Given the description of an element on the screen output the (x, y) to click on. 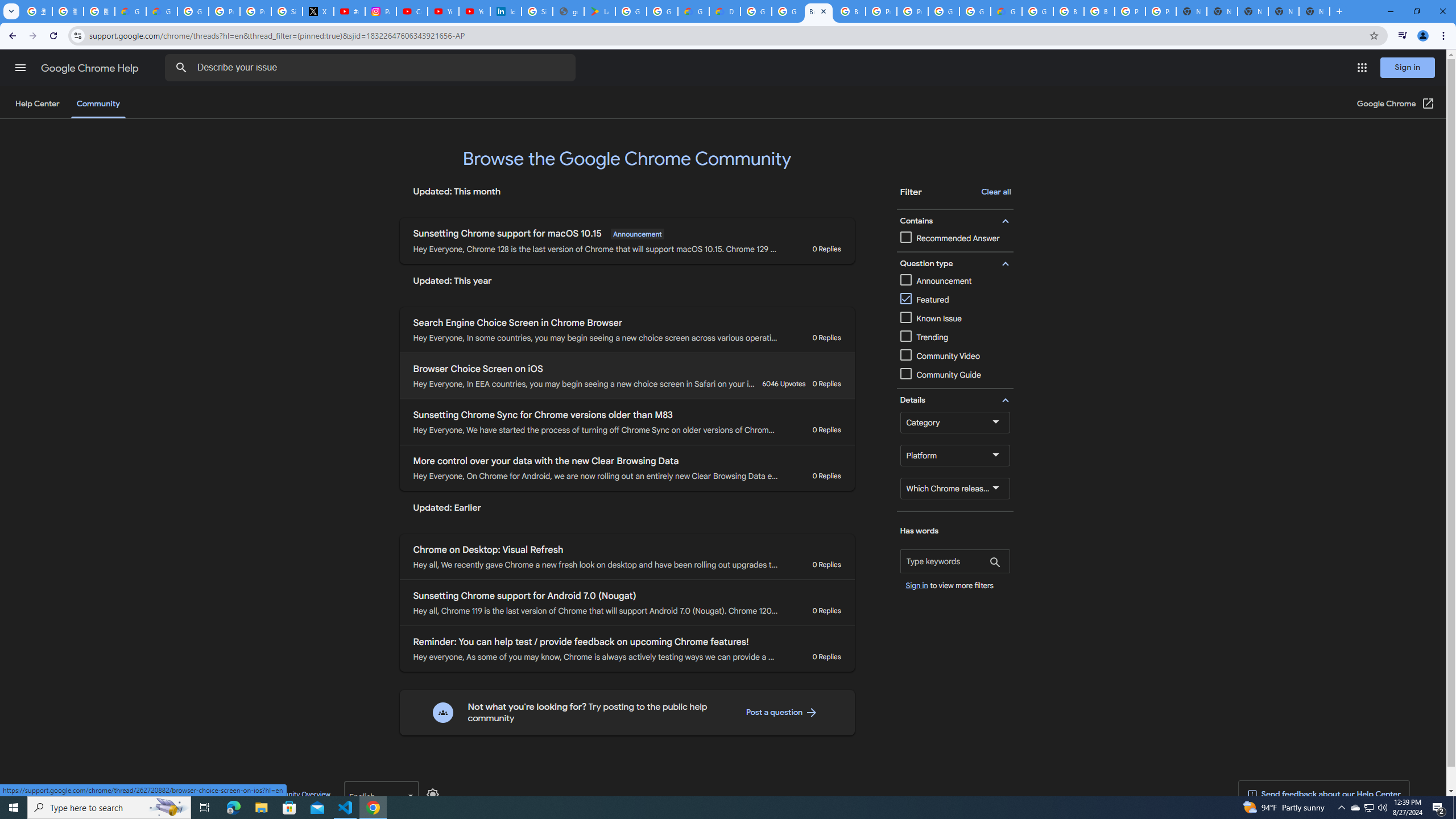
Search Help Center (181, 67)
Google Cloud Estimate Summary (1005, 11)
Google Chrome Help (90, 68)
Browse the Google Chrome Community - Google Chrome Community (818, 11)
Browse Chrome as a guest - Computer - Google Chrome Help (1068, 11)
Sign in - Google Accounts (536, 11)
Privacy Policy (117, 794)
